Given the description of an element on the screen output the (x, y) to click on. 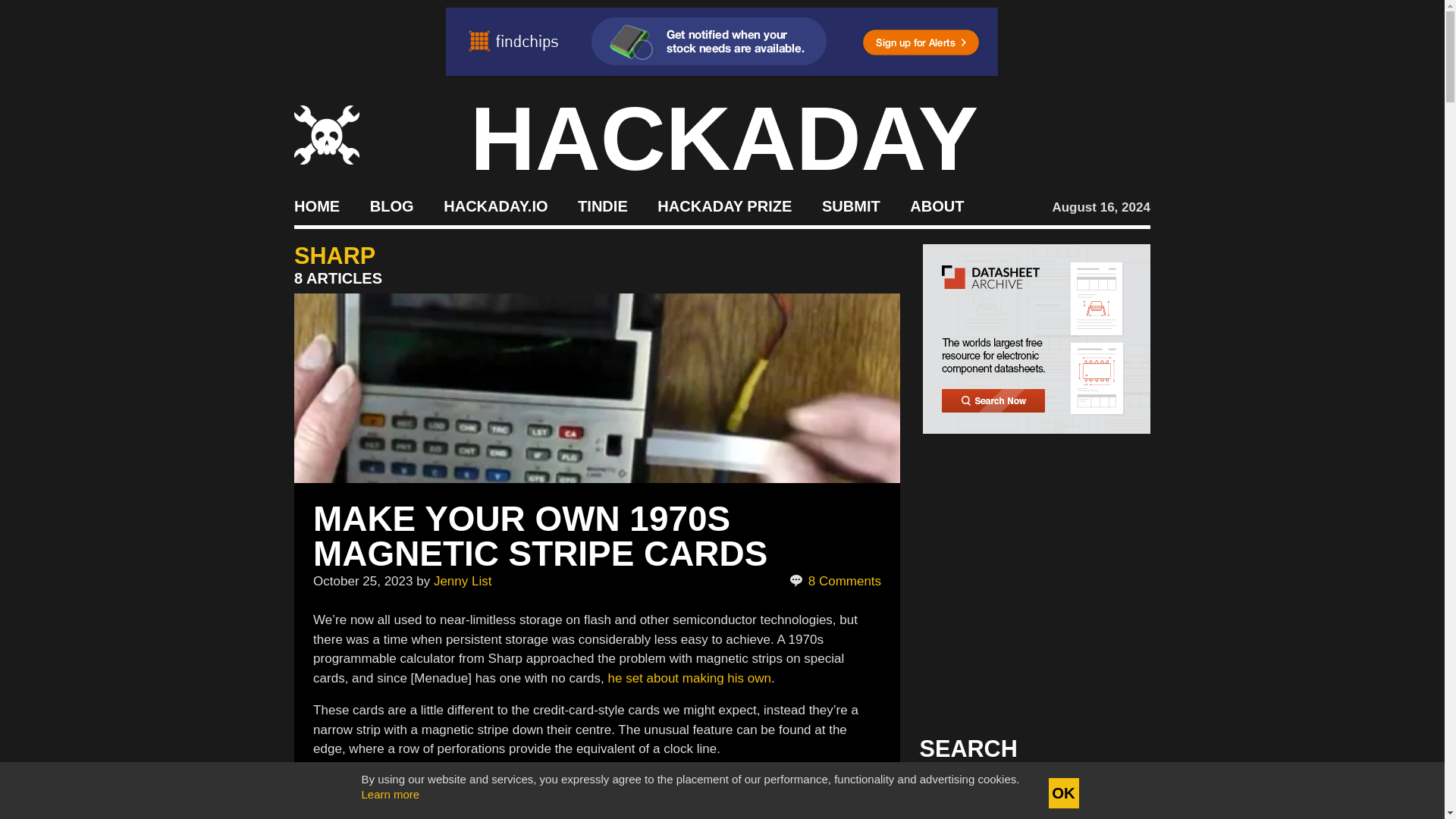
Search (1115, 792)
BLOG (391, 205)
HACKADAY PRIZE (725, 205)
SUBMIT (851, 205)
he set about making his own (689, 677)
8 Comments (834, 581)
ABOUT (936, 205)
HACKADAY (724, 138)
HACKADAY.IO (495, 205)
MAKE YOUR OWN 1970S MAGNETIC STRIPE CARDS (540, 535)
